Given the description of an element on the screen output the (x, y) to click on. 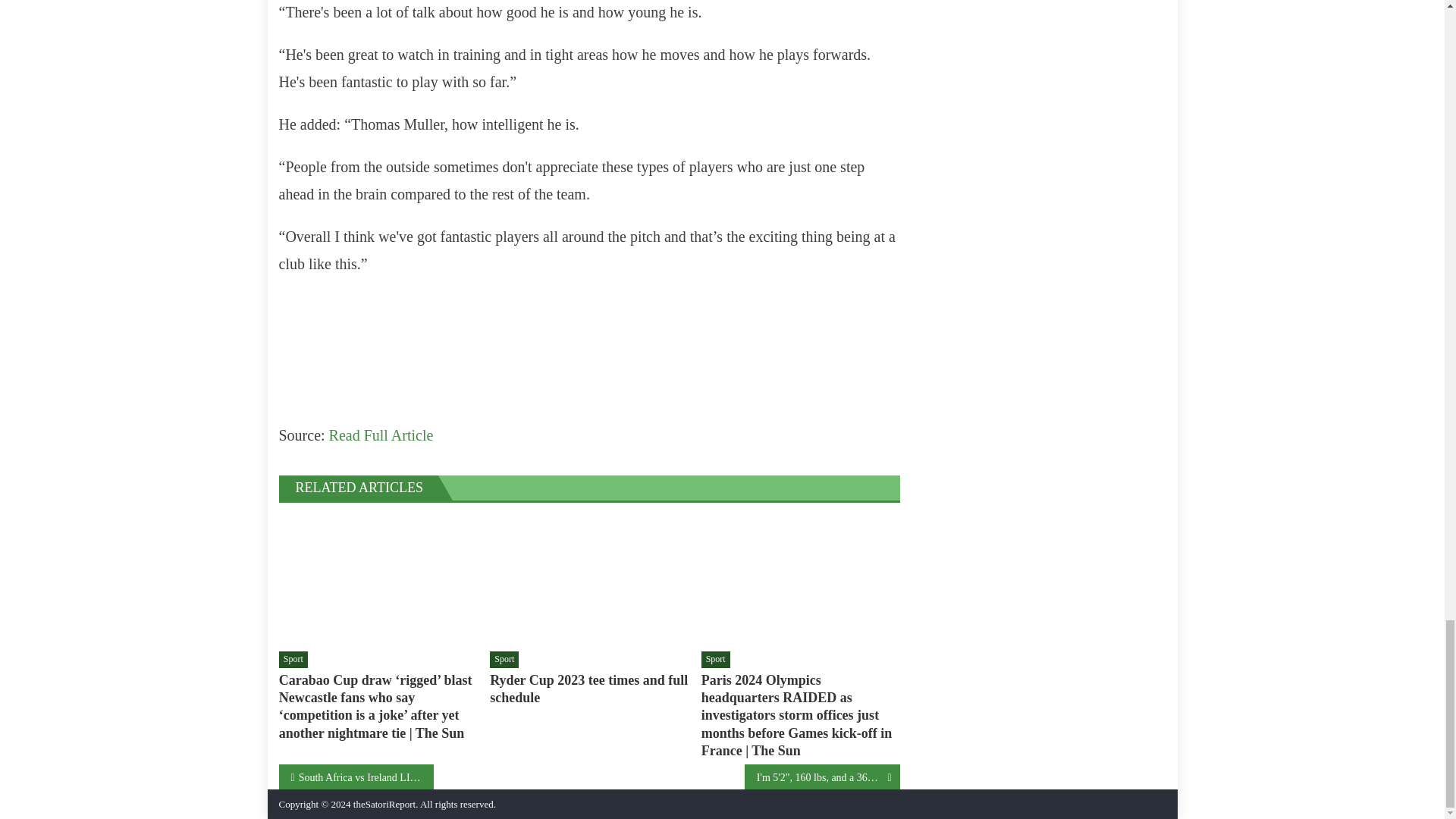
theSatoriReport (383, 803)
theSatoriReport (383, 803)
Sport (503, 659)
Ryder Cup 2023 tee times and full schedule (588, 689)
Sport (715, 659)
Ryder Cup 2023 tee times and full schedule (588, 579)
Sport (293, 659)
Read Full Article (381, 434)
